Given the description of an element on the screen output the (x, y) to click on. 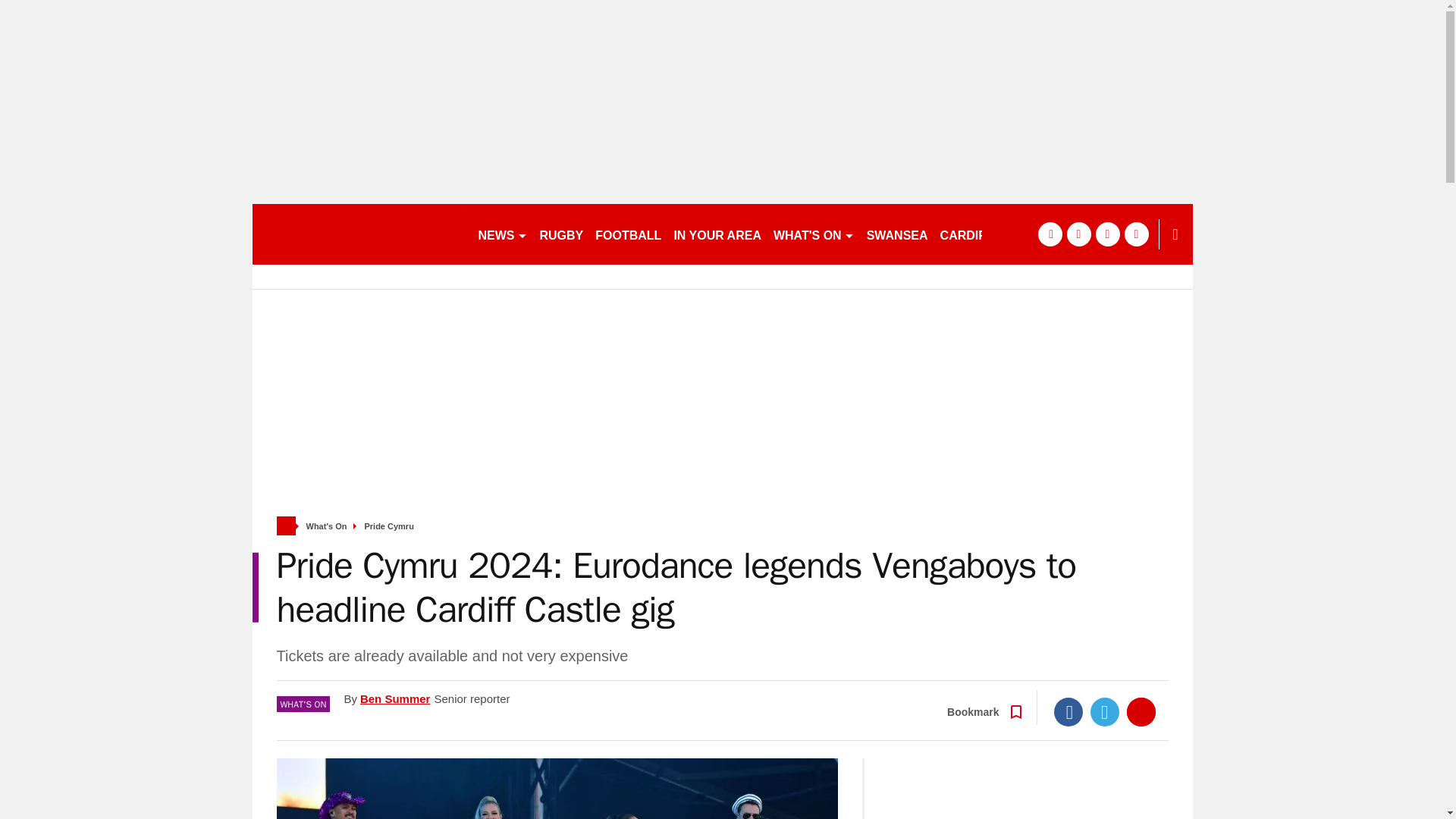
instagram (1136, 233)
Facebook (1068, 711)
WHAT'S ON (813, 233)
facebook (1048, 233)
twitter (1077, 233)
NEWS (501, 233)
walesonline (357, 233)
RUGBY (561, 233)
pinterest (1106, 233)
IN YOUR AREA (716, 233)
